Given the description of an element on the screen output the (x, y) to click on. 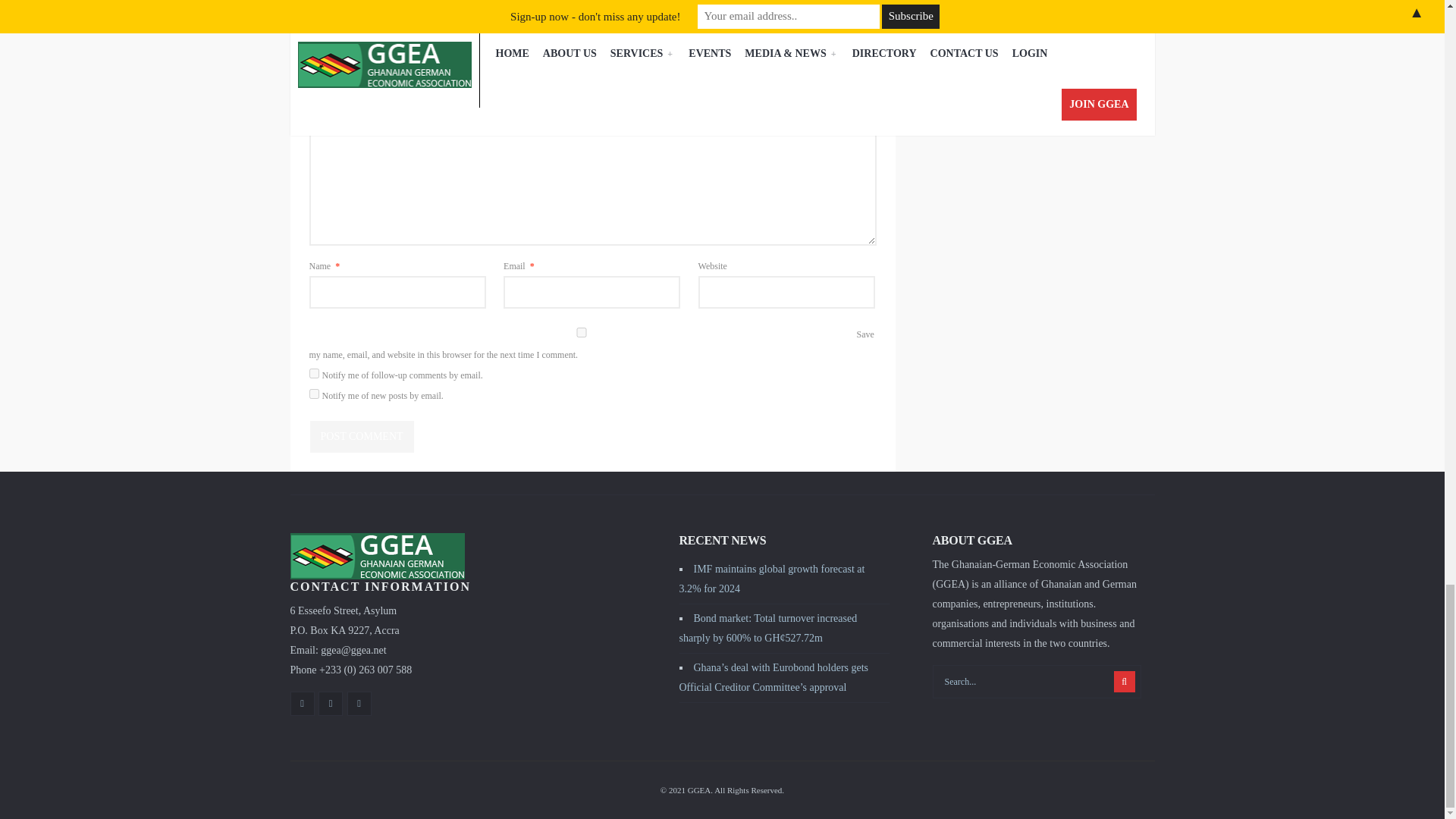
Facebook (301, 703)
subscribe (313, 373)
Post Comment (360, 436)
Search... (1037, 681)
subscribe (313, 393)
yes (580, 332)
Post Comment (360, 436)
